Given the description of an element on the screen output the (x, y) to click on. 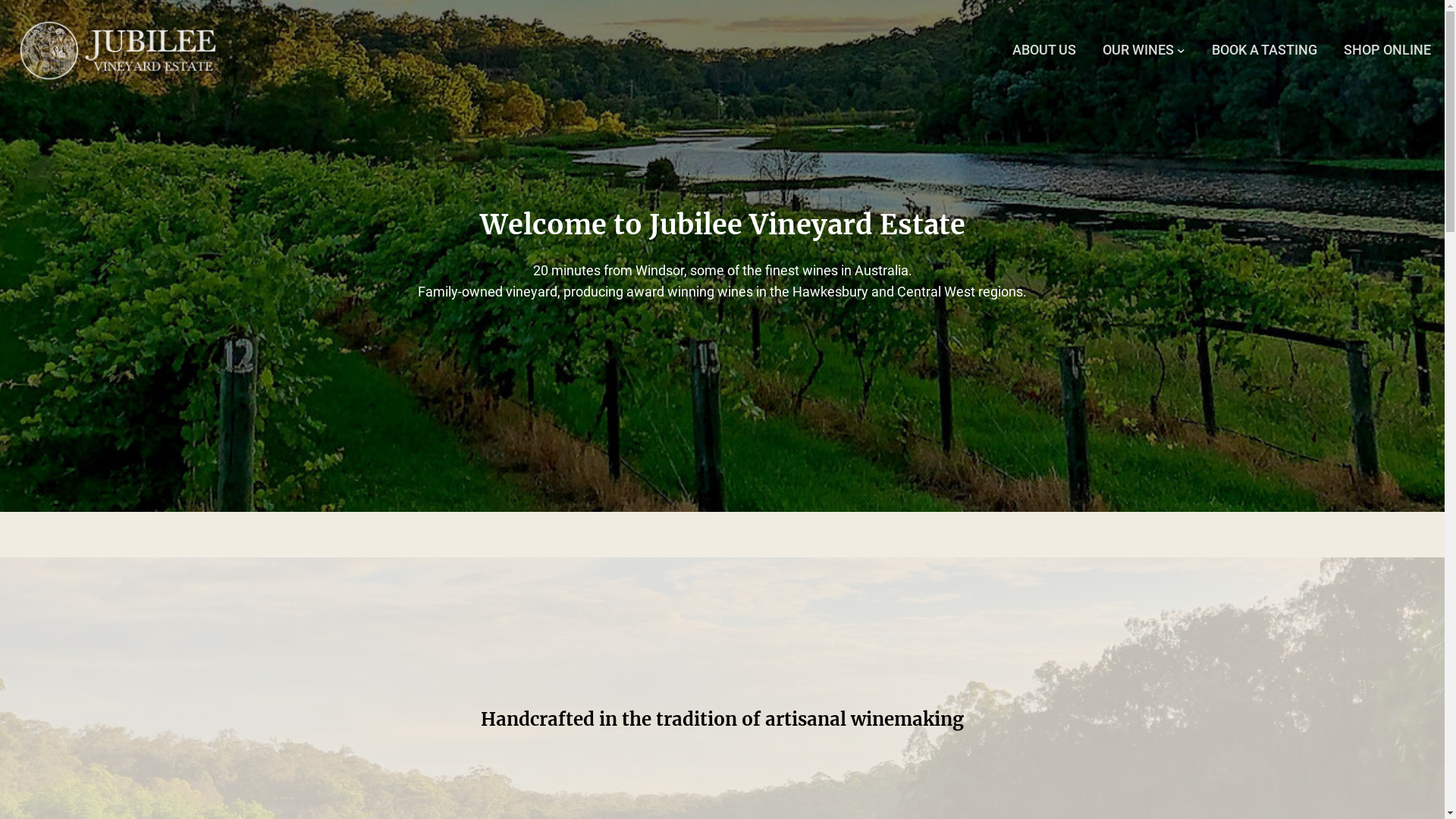
ABOUT US Element type: text (1044, 49)
OUR WINES Element type: text (1137, 49)
BOOK A TASTING Element type: text (1264, 49)
SHOP ONLINE Element type: text (1386, 49)
